Given the description of an element on the screen output the (x, y) to click on. 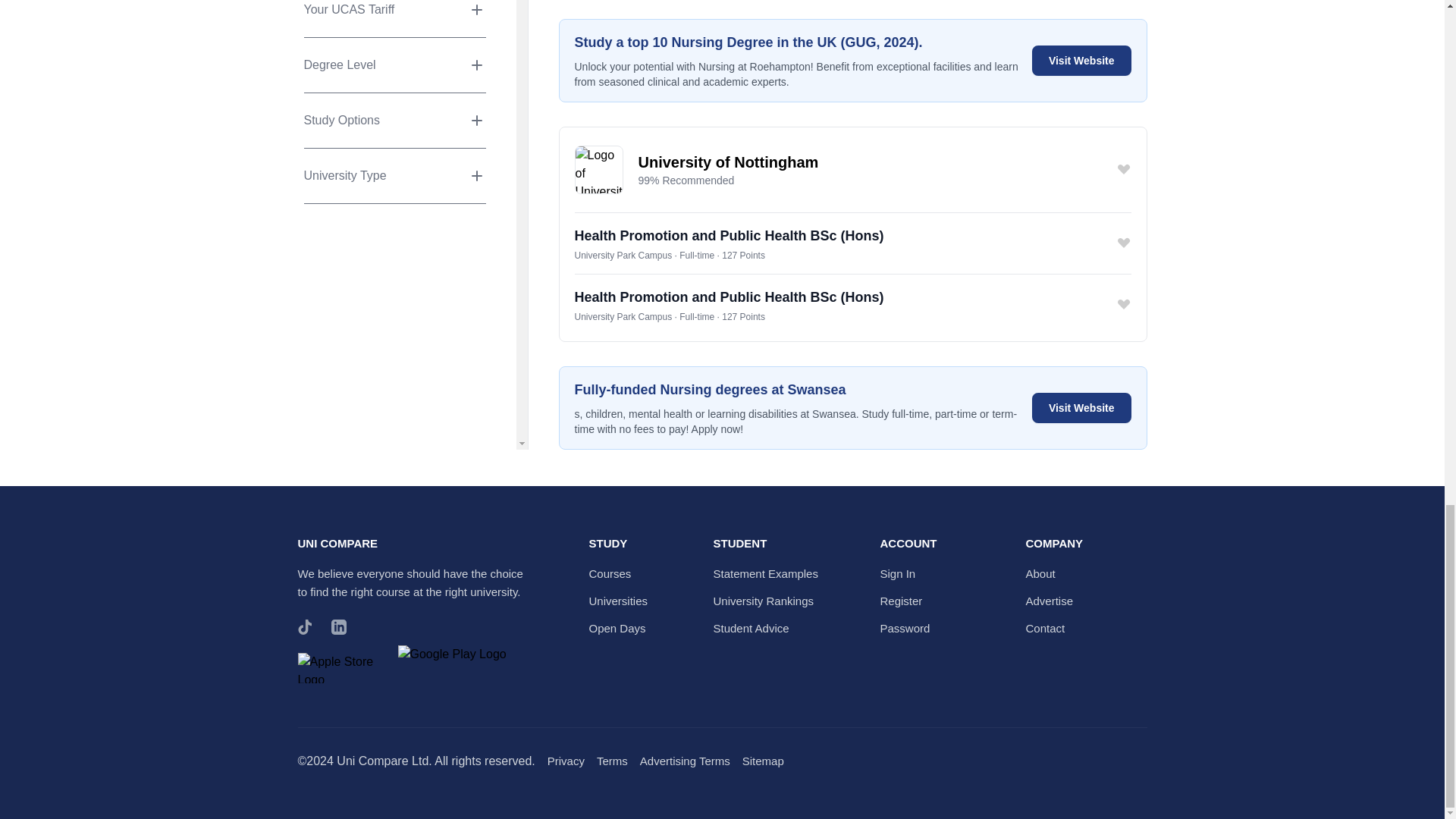
Download our Android app (454, 671)
Download our iOS app (342, 671)
